Given the description of an element on the screen output the (x, y) to click on. 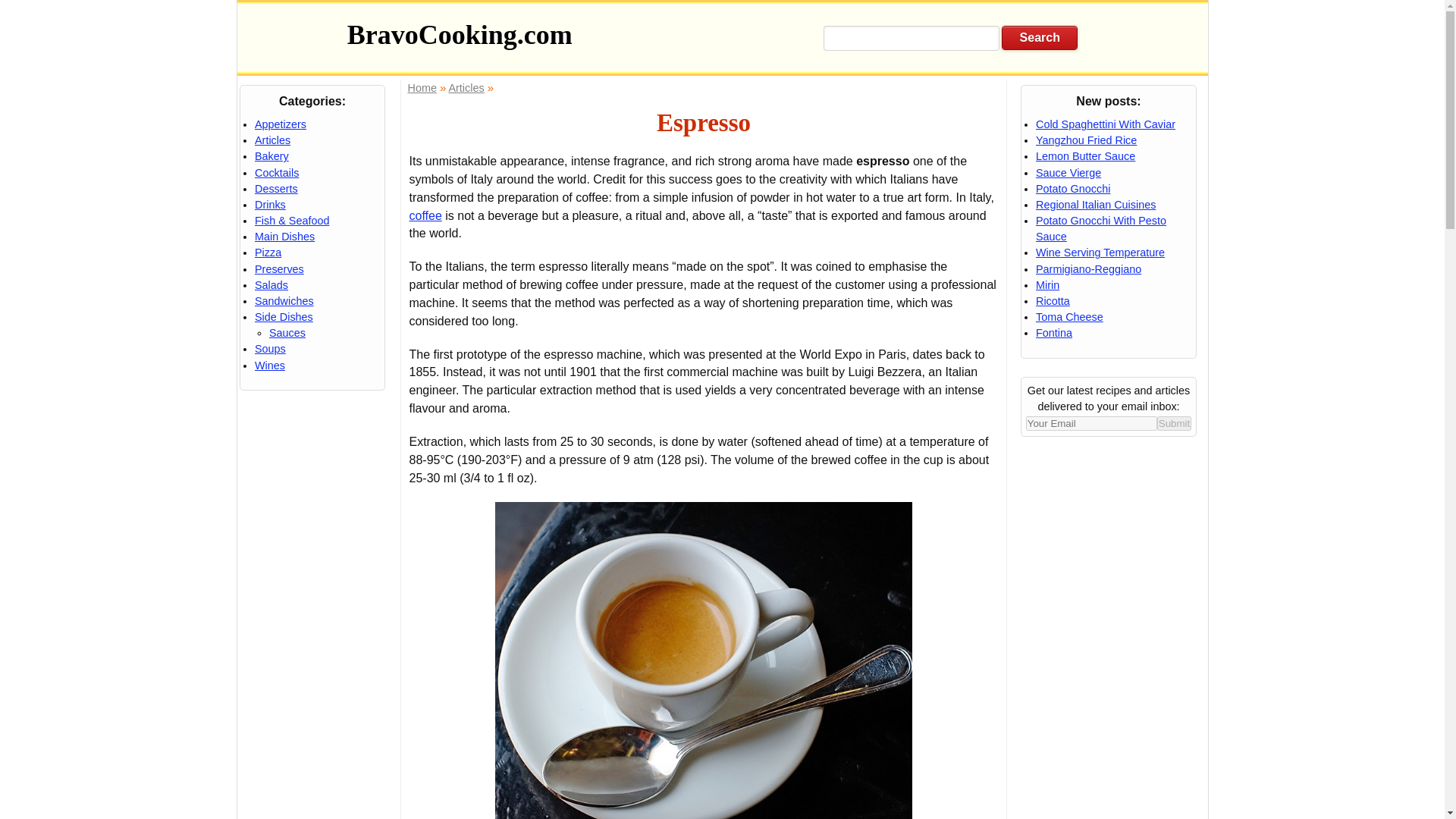
Search (1039, 37)
Articles (465, 87)
Lemon Butter Sauce (1085, 155)
Sauce Vierge (1067, 173)
Mirin (1047, 285)
Home (421, 87)
Search (1039, 37)
Yangzhou Fried Rice (1086, 140)
Cold Spaghettini With Caviar (1104, 123)
Appetizers (279, 123)
